Given the description of an element on the screen output the (x, y) to click on. 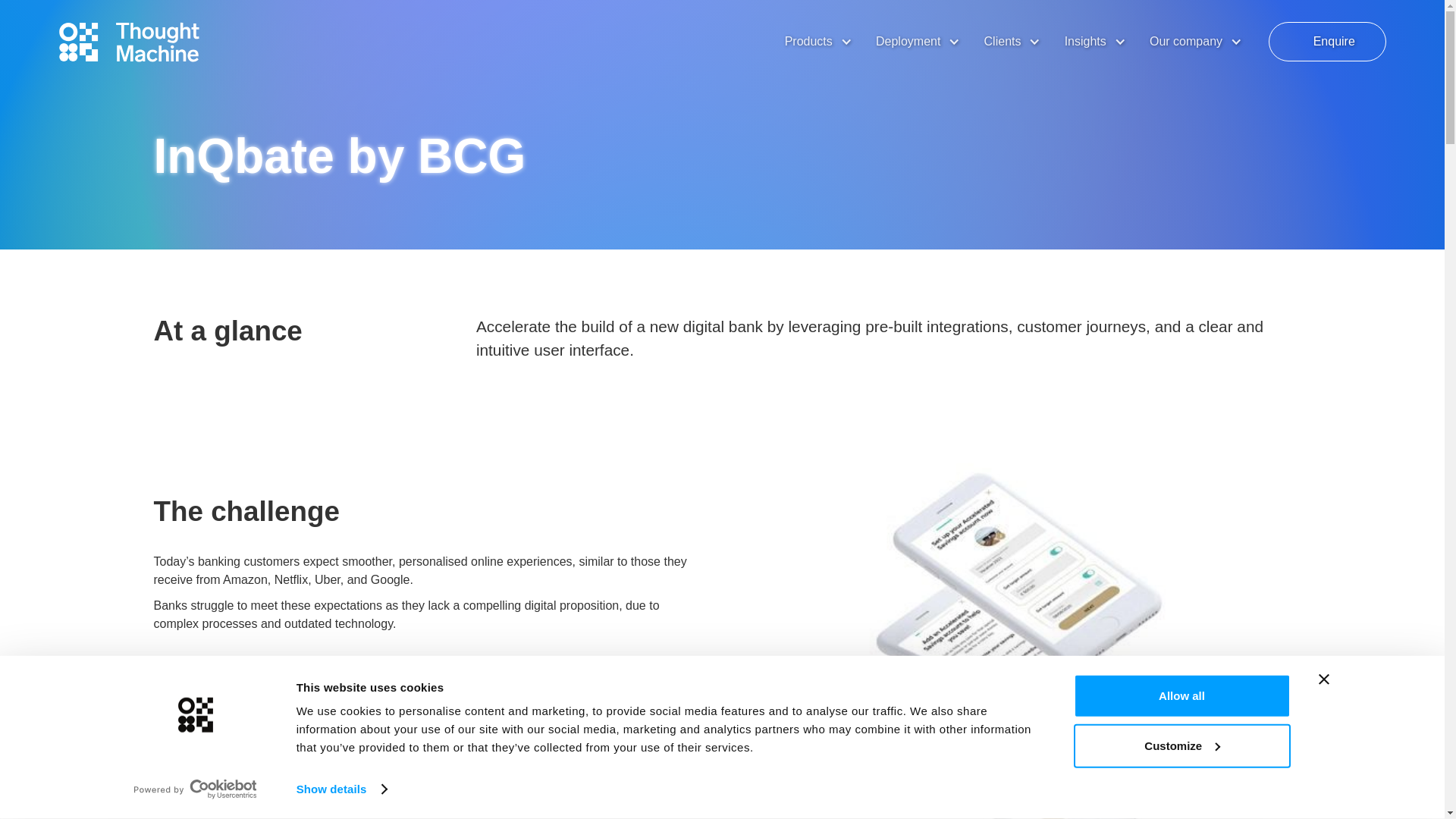
Show details (341, 789)
link to homepage (129, 42)
